Given the description of an element on the screen output the (x, y) to click on. 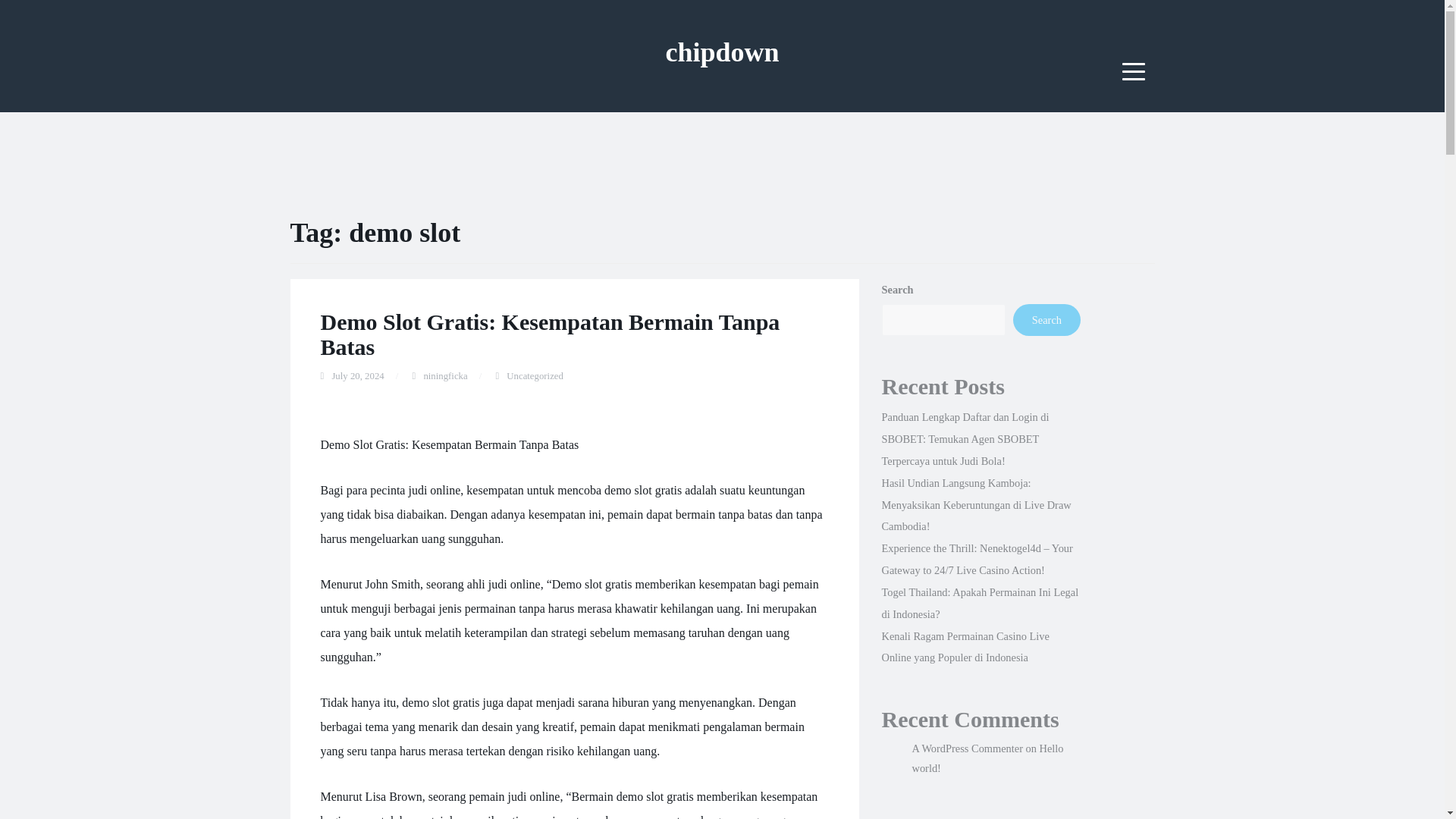
Menu (1133, 71)
July 20, 2024 (357, 376)
niningficka (445, 376)
Search (1046, 319)
Demo Slot Gratis: Kesempatan Bermain Tanpa Batas (549, 334)
chipdown (721, 51)
